Given the description of an element on the screen output the (x, y) to click on. 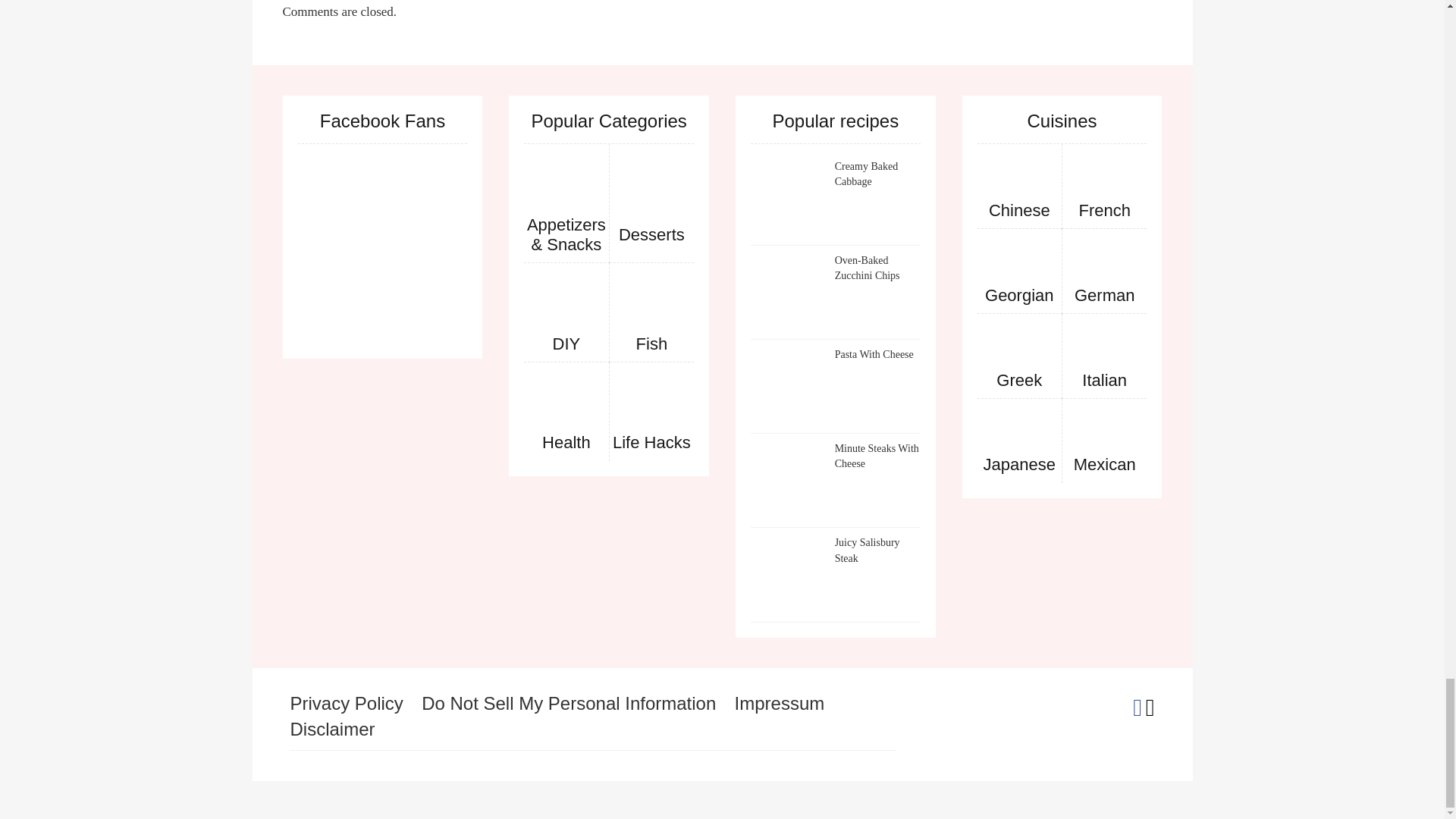
Juicy Salisbury Steak (789, 573)
Oven-Baked Zucchini Chips (789, 291)
Minute Steaks With Cheese (789, 479)
Creamy Baked Cabbage (789, 196)
Pasta With Cheese (789, 385)
